Given the description of an element on the screen output the (x, y) to click on. 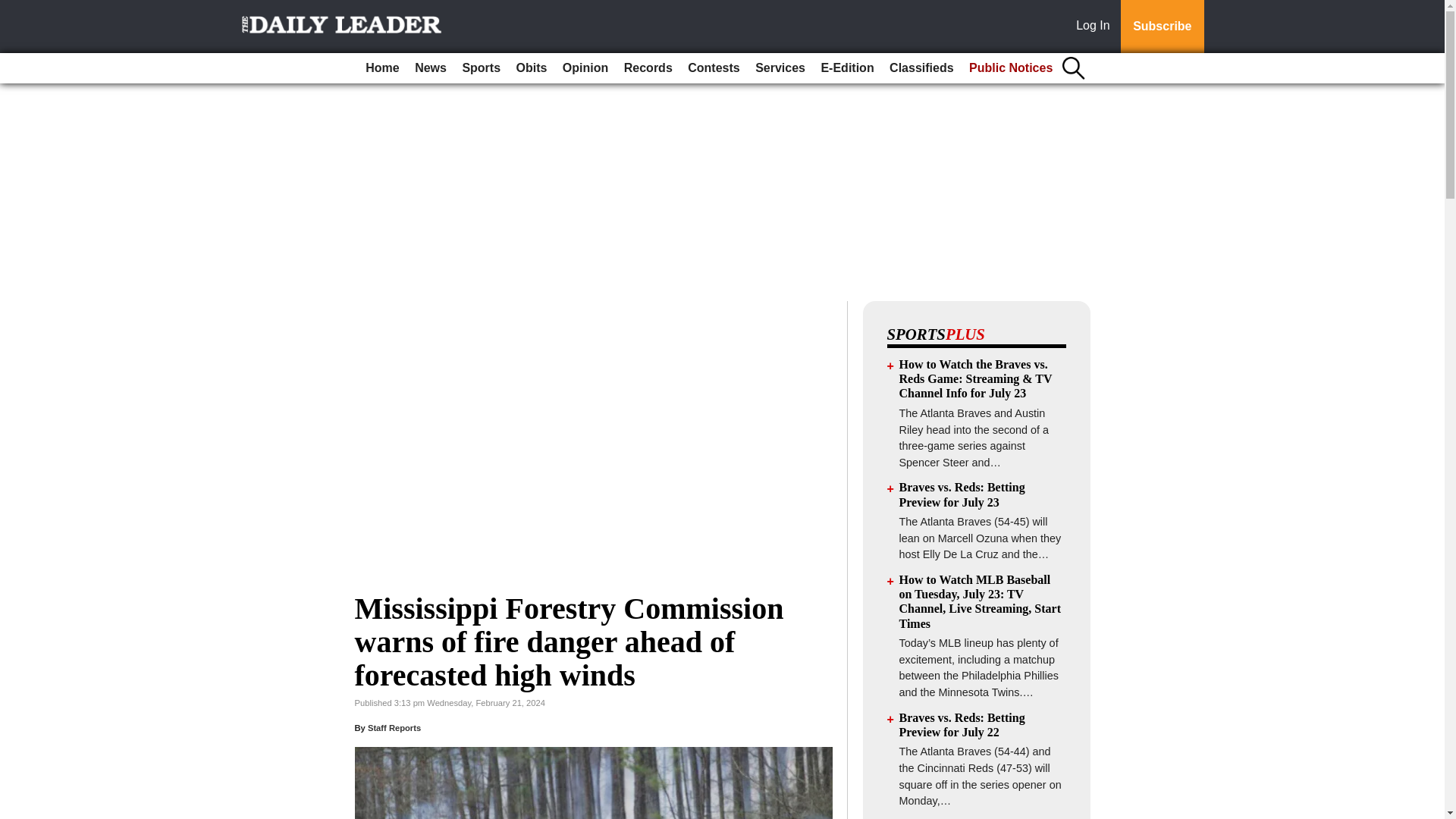
Braves vs. Reds: Betting Preview for July 23 (962, 493)
Public Notices (1010, 68)
E-Edition (846, 68)
Opinion (585, 68)
Home (381, 68)
Contests (713, 68)
Log In (1095, 26)
Classifieds (921, 68)
Go (13, 9)
Staff Reports (394, 727)
Services (779, 68)
Subscribe (1162, 26)
Sports (480, 68)
Braves vs. Reds: Betting Preview for July 22 (962, 724)
